Given the description of an element on the screen output the (x, y) to click on. 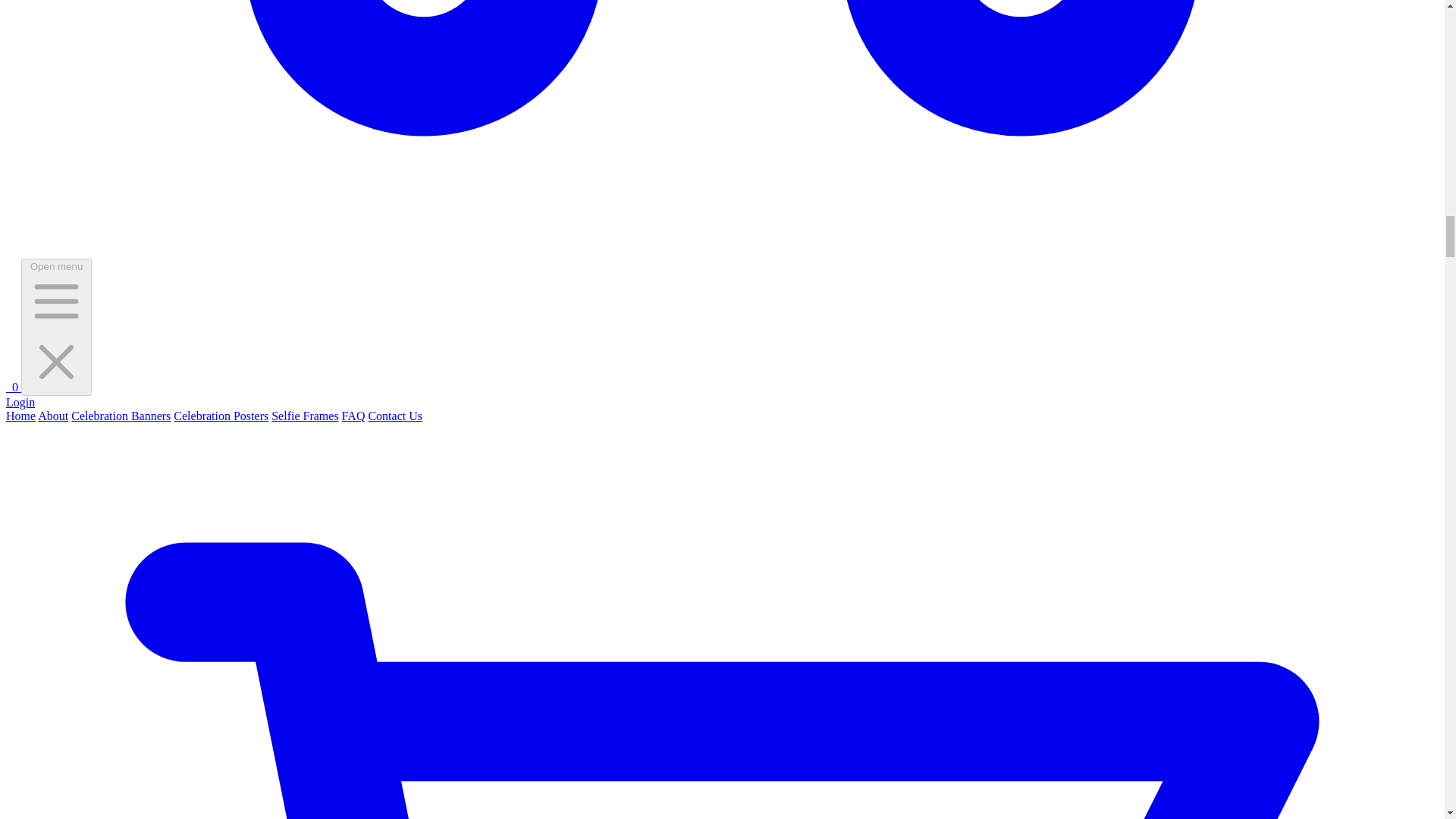
FAQ (353, 415)
About (52, 415)
Login (19, 401)
Celebration Posters (220, 415)
Home (19, 415)
Contact Us (395, 415)
Celebration Banners (120, 415)
Selfie Frames (303, 415)
